Given the description of an element on the screen output the (x, y) to click on. 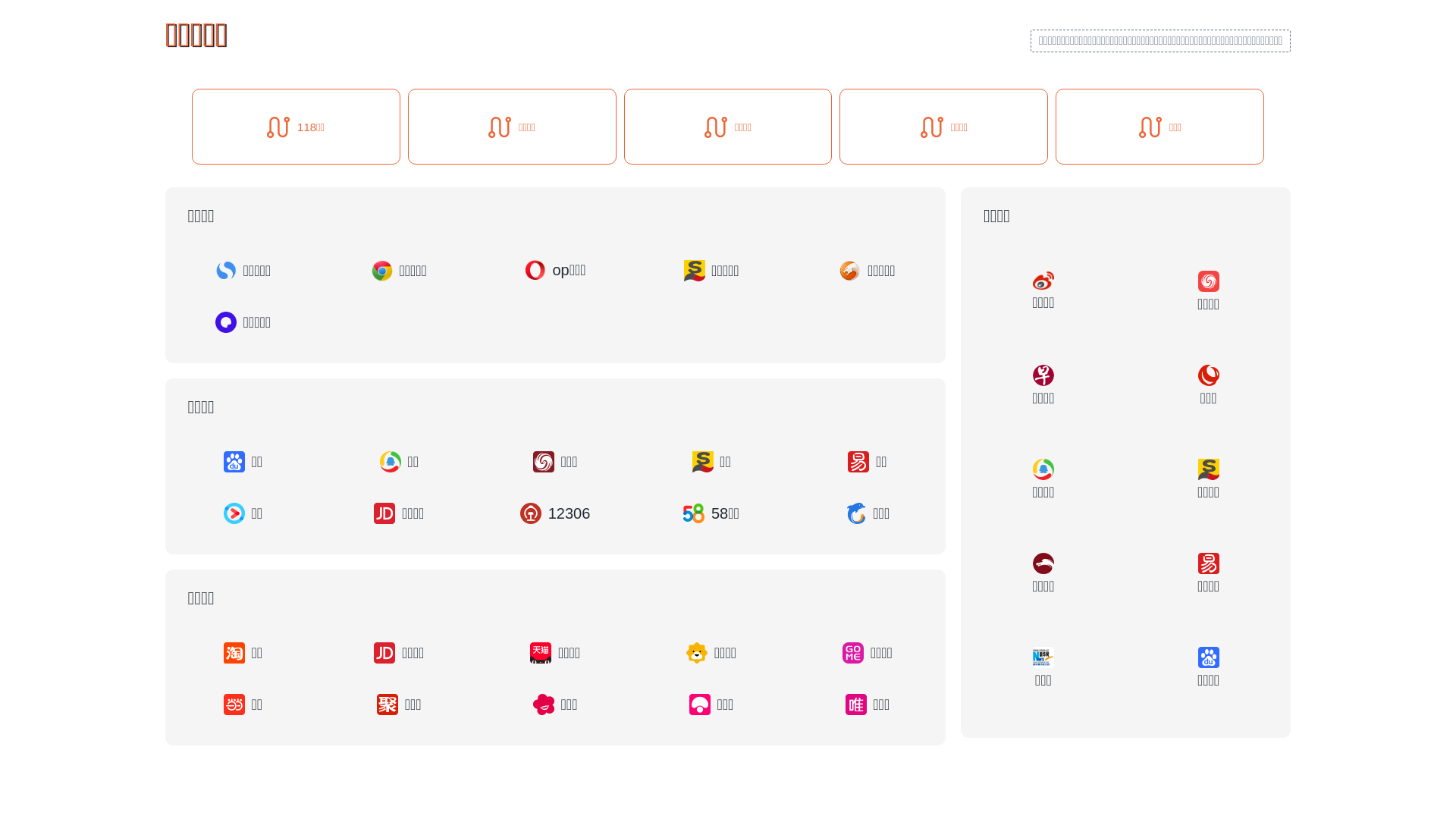
12306 Element type: text (554, 513)
